Given the description of an element on the screen output the (x, y) to click on. 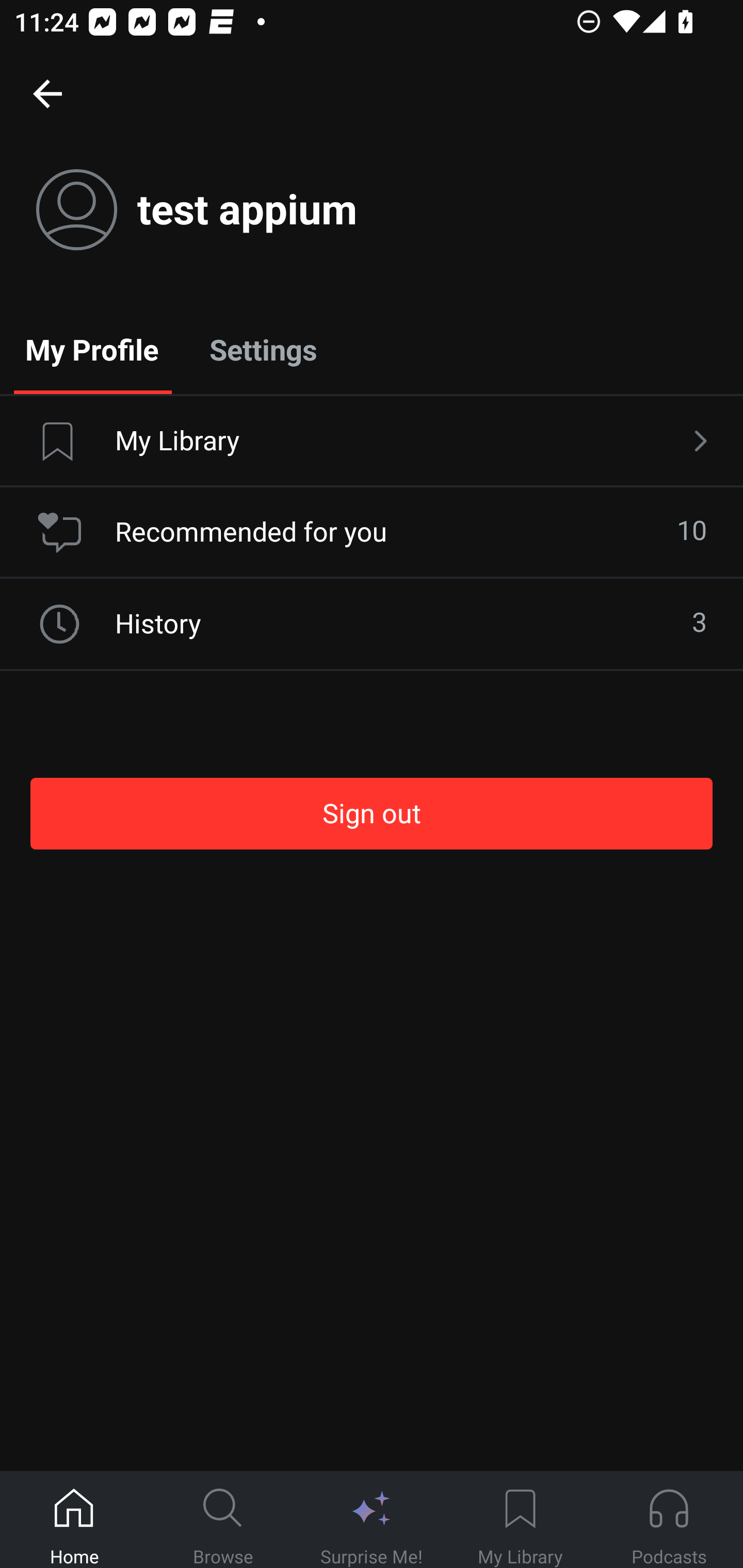
Home, back (47, 92)
My Profile (92, 348)
Settings (263, 348)
My Library (371, 441)
Recommended for you 10 (371, 532)
History 3 (371, 623)
Sign out (371, 813)
Home (74, 1520)
Browse (222, 1520)
Surprise Me! (371, 1520)
My Library (519, 1520)
Podcasts (668, 1520)
